Given the description of an element on the screen output the (x, y) to click on. 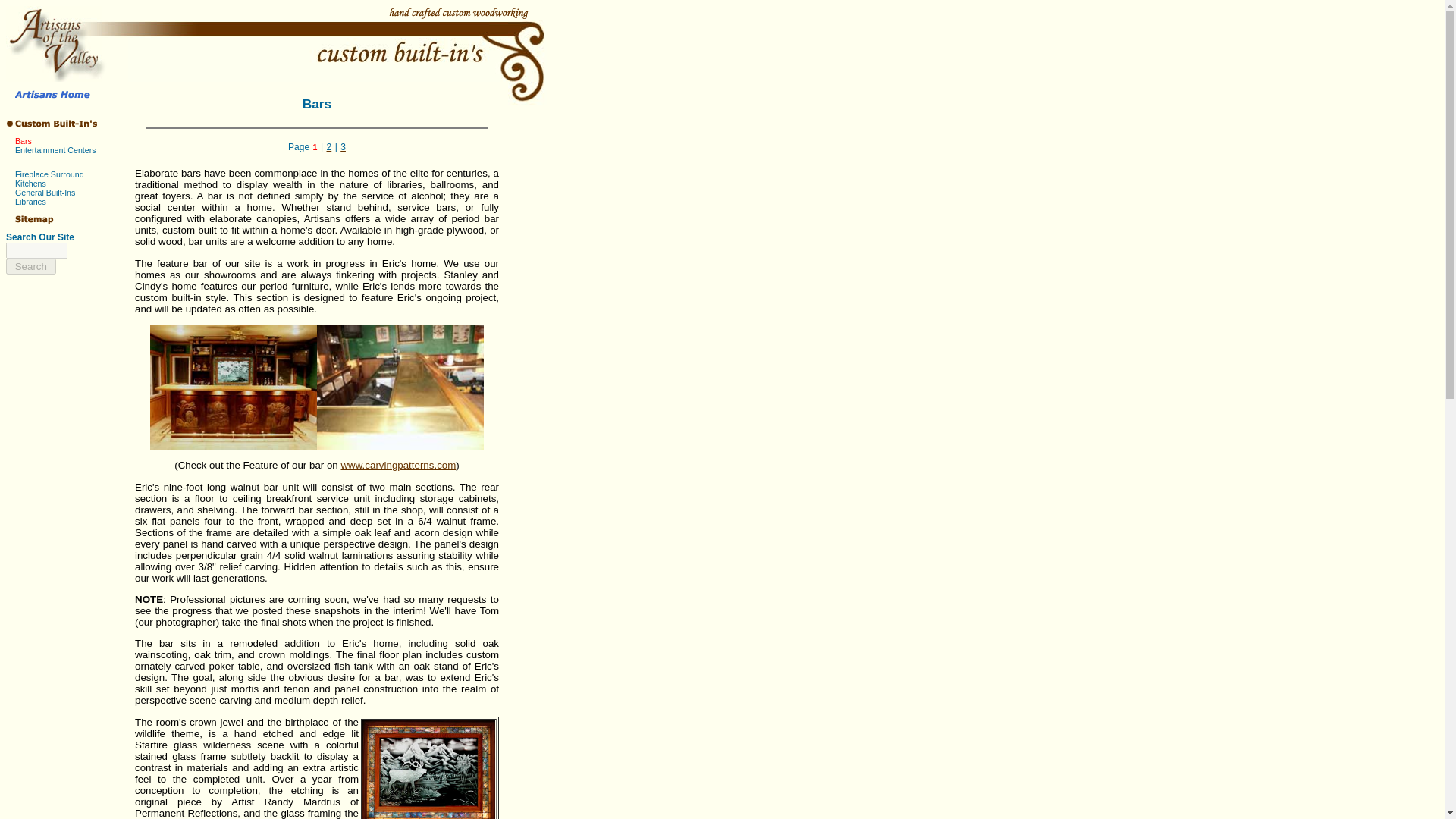
Libraries (30, 201)
Entertainment Centers (55, 149)
 Search  (30, 266)
Bars (23, 140)
Kitchens (30, 183)
Fireplace Surround (49, 174)
www.carvingpatterns.com (397, 464)
General Built-Ins (44, 192)
 Search  (30, 266)
